Given the description of an element on the screen output the (x, y) to click on. 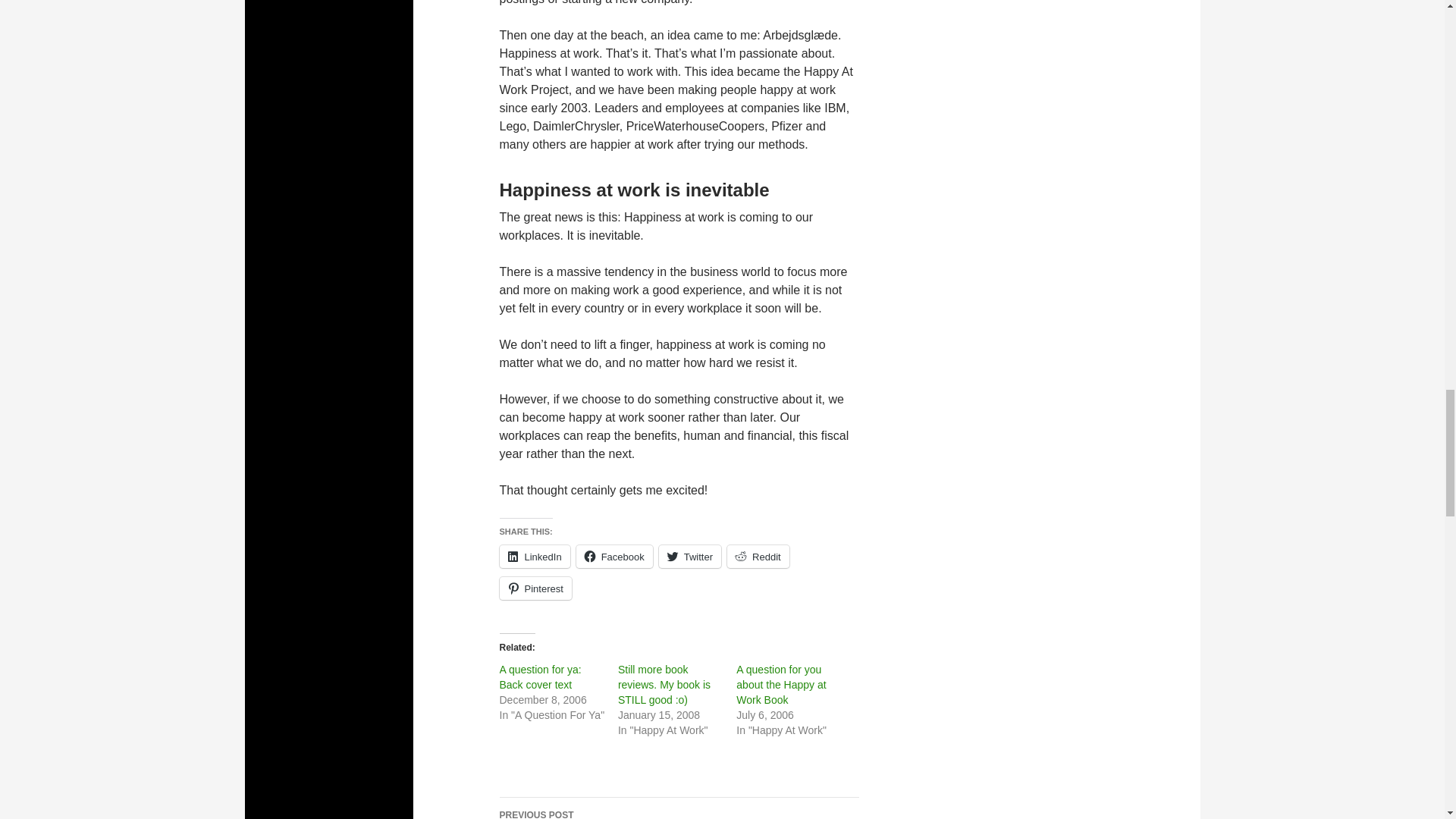
Click to share on LinkedIn (534, 556)
A question for ya: Back cover text (539, 677)
A question for you about the Happy at Work Book (780, 684)
Facebook (614, 556)
Twitter (689, 556)
A question for ya: Back cover text (679, 808)
LinkedIn (539, 677)
Reddit (534, 556)
Click to share on Reddit (757, 556)
Pinterest (757, 556)
Click to share on Pinterest (534, 588)
A question for you about the Happy at Work Book (534, 588)
Click to share on Facebook (780, 684)
Click to share on Twitter (614, 556)
